Given the description of an element on the screen output the (x, y) to click on. 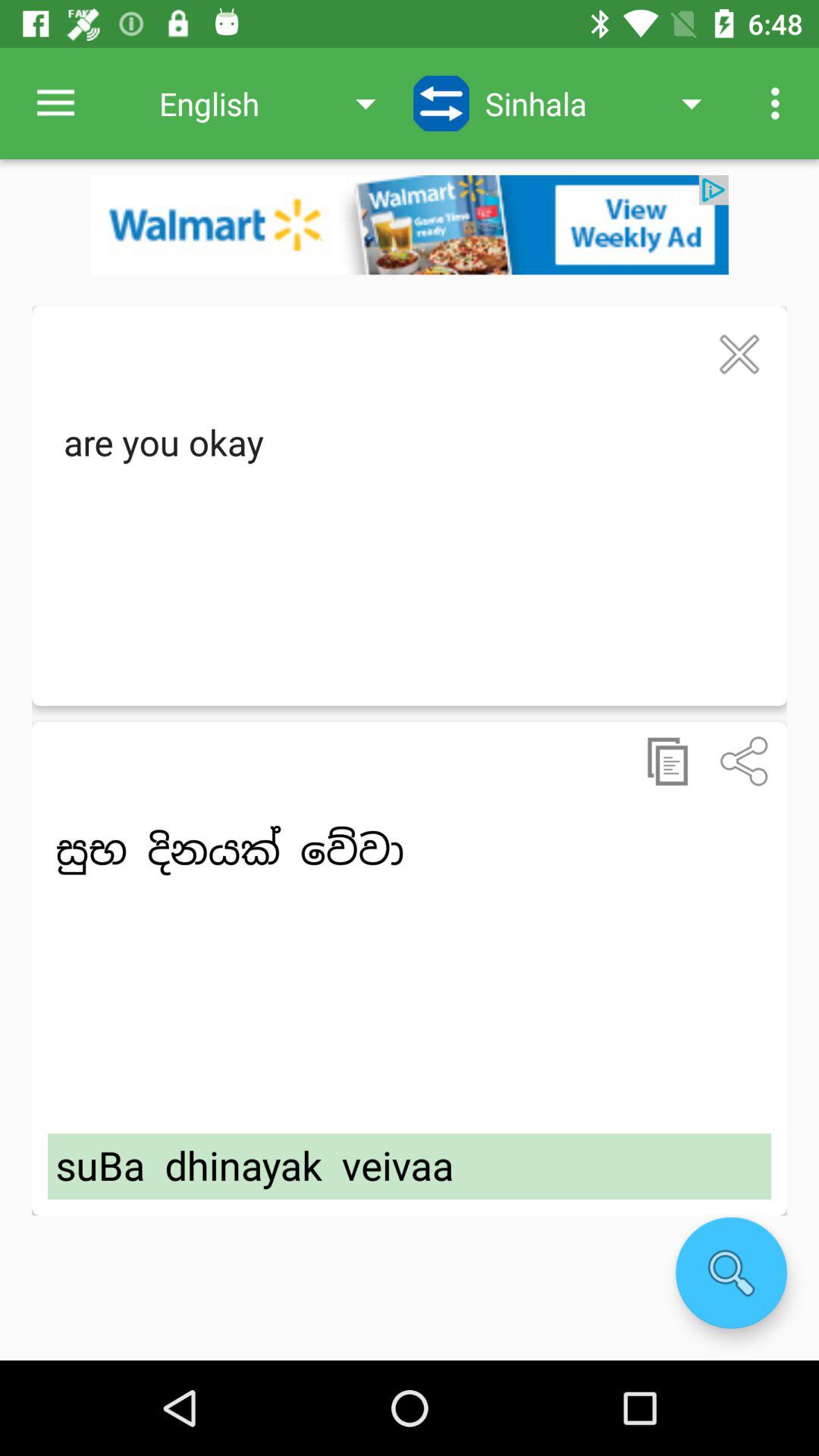
choose the item to the left of english app (55, 103)
